Given the description of an element on the screen output the (x, y) to click on. 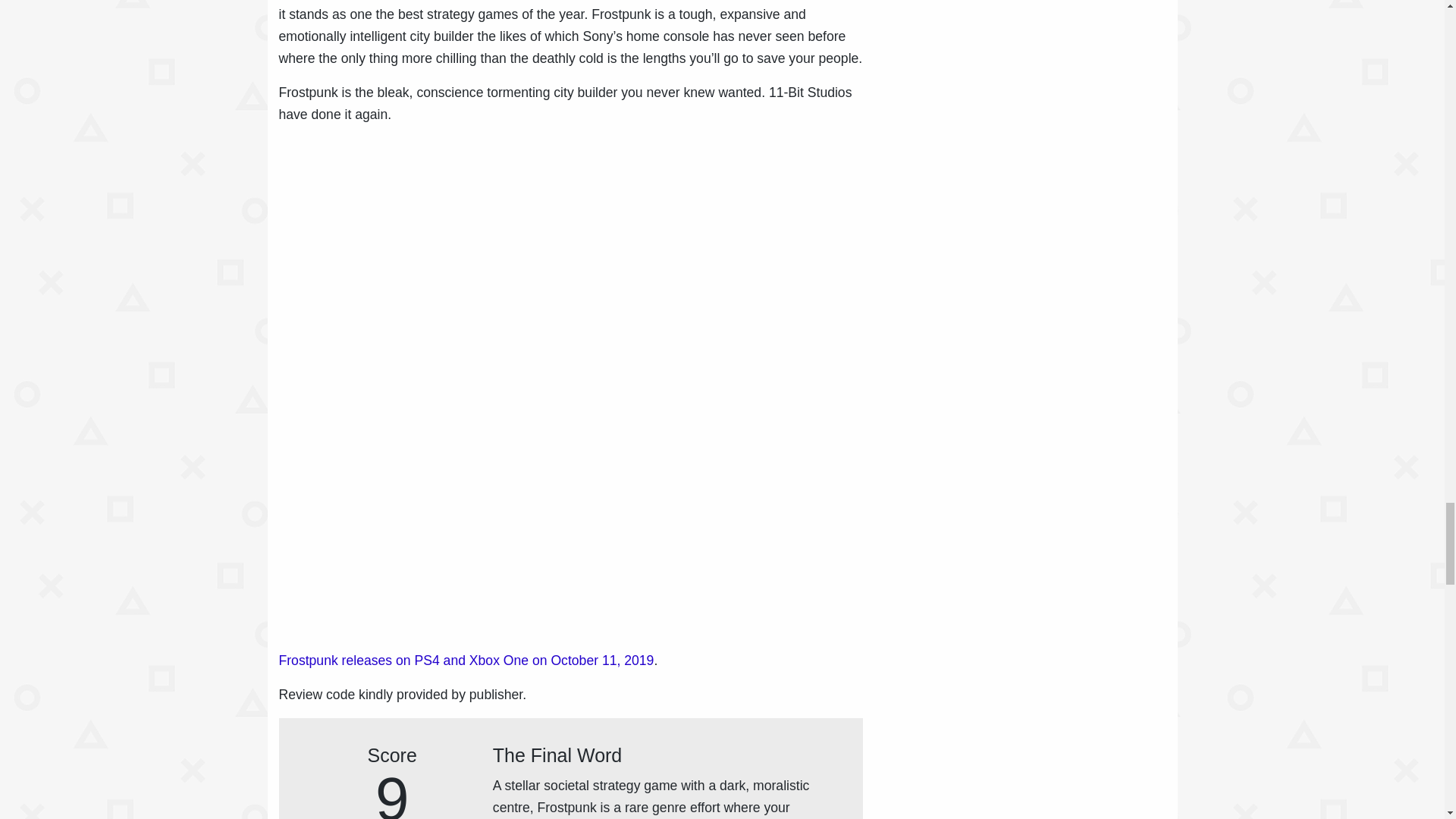
Frostpunk releases on PS4 and Xbox One on October 11, 2019 (466, 660)
